Given the description of an element on the screen output the (x, y) to click on. 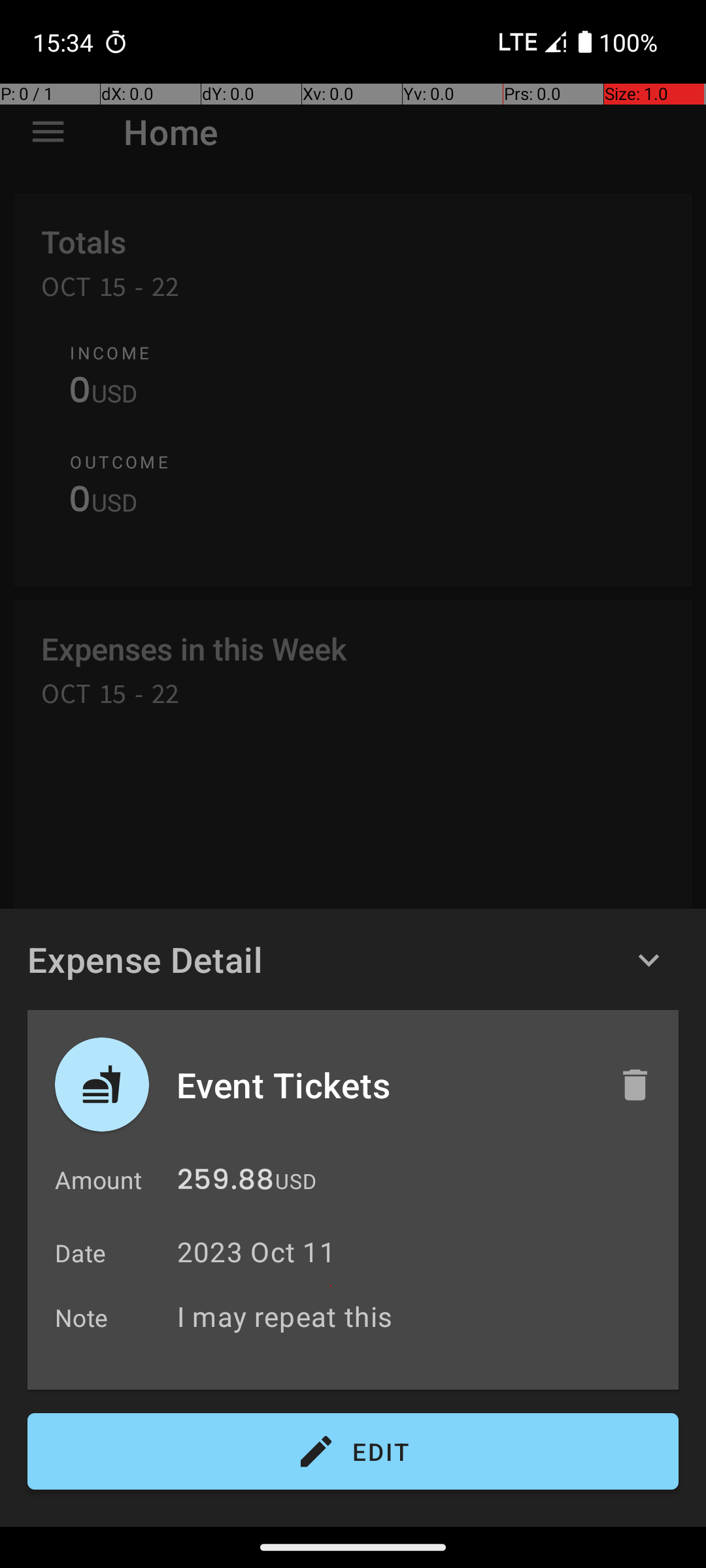
259.88 Element type: android.widget.TextView (225, 1182)
